Given the description of an element on the screen output the (x, y) to click on. 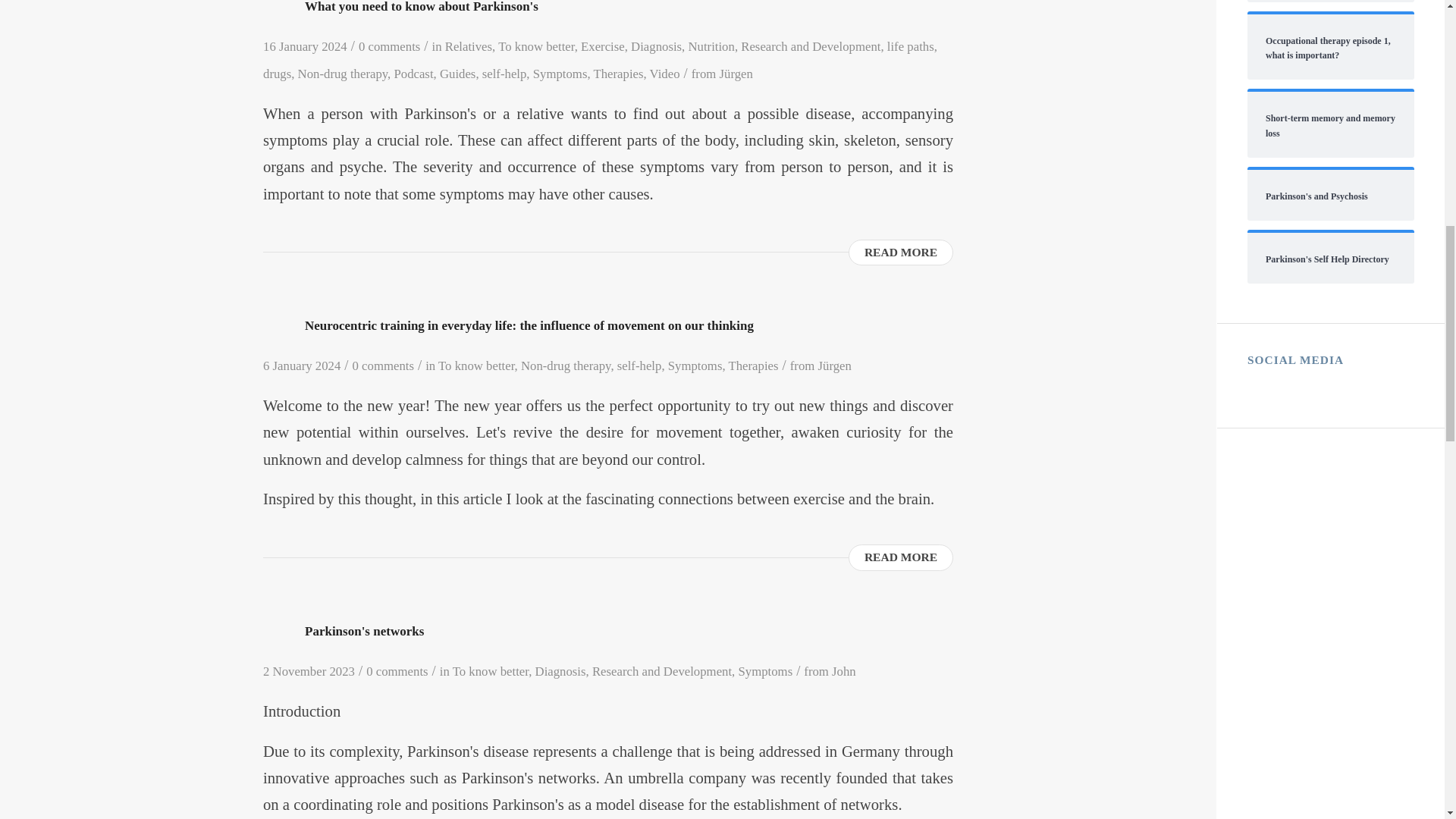
Instagram (1286, 385)
YouTube (1312, 385)
Parkinson's Self Help Directory (1330, 257)
Parkinson's and Psychosis (1330, 195)
Occupational therapy episode 1, what is important? (1330, 46)
Permanent link to: Parkinson's networks (363, 631)
Facebook (1259, 385)
Contributions by Johannes (843, 671)
Short-term memory and memory loss (1330, 123)
Permanent link to: What you need to know about Parkinson's (421, 6)
